Given the description of an element on the screen output the (x, y) to click on. 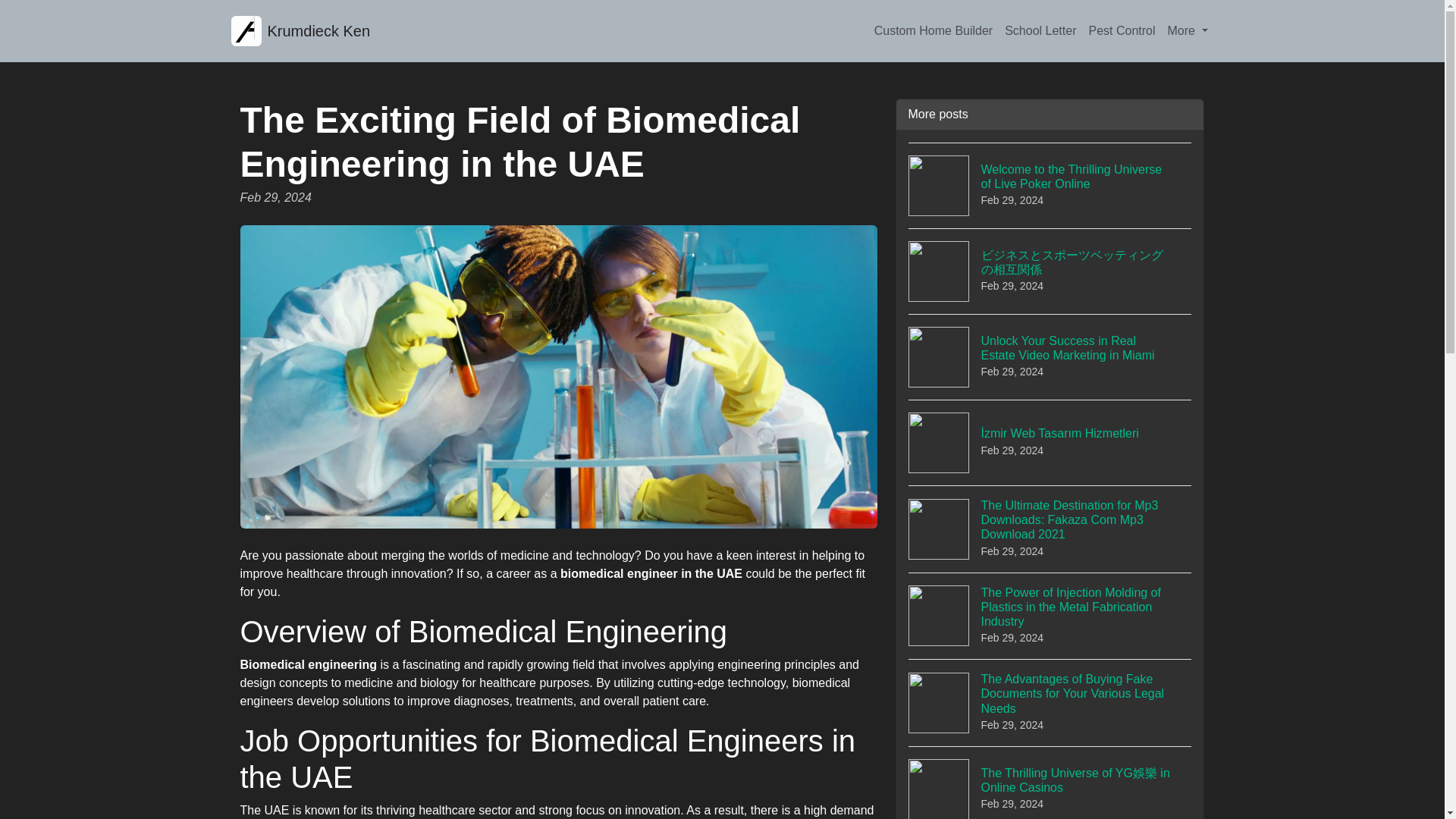
Pest Control (1120, 30)
School Letter (1039, 30)
Krumdieck Ken (299, 30)
Custom Home Builder (932, 30)
More (1187, 30)
